Given the description of an element on the screen output the (x, y) to click on. 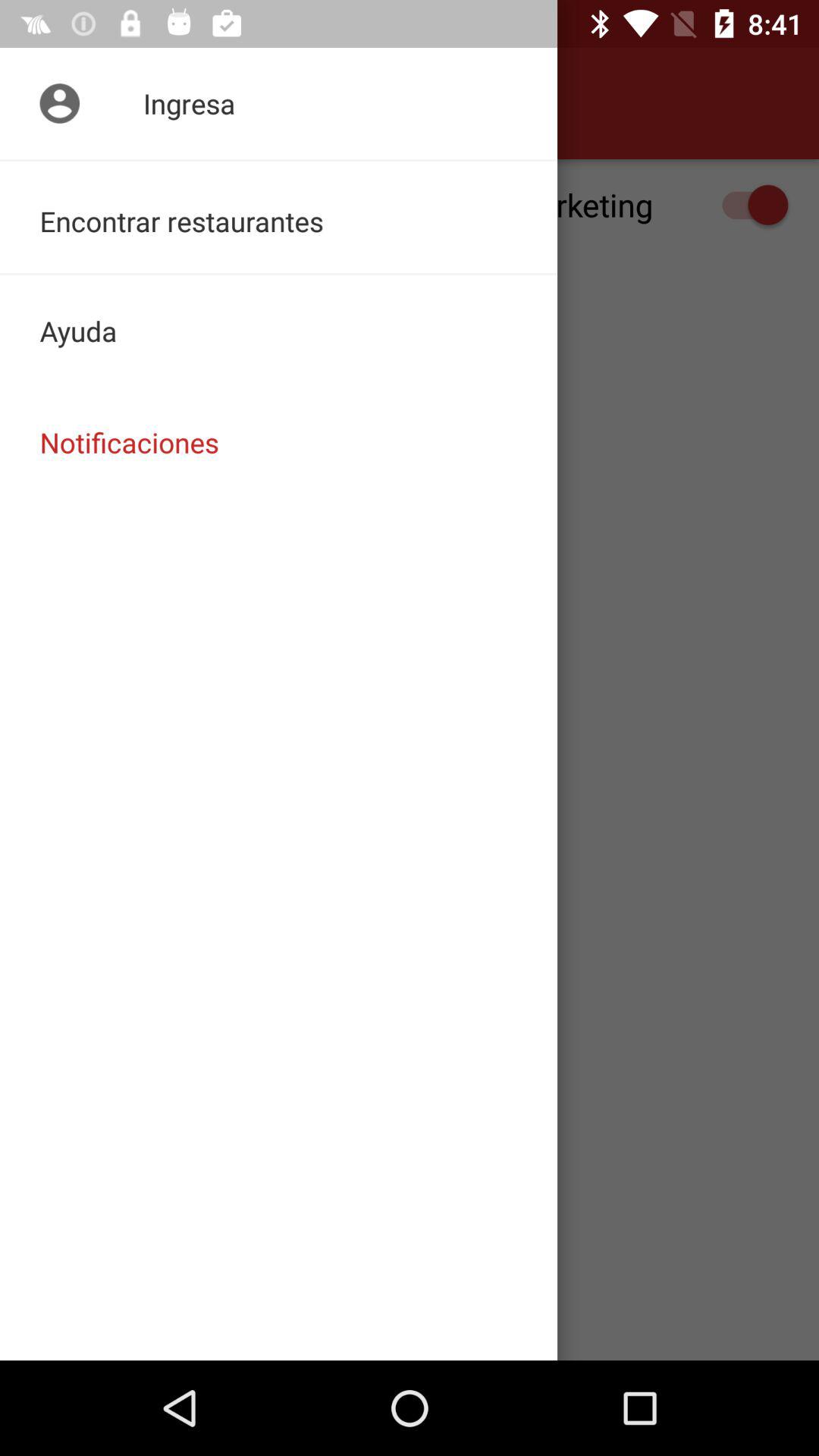
flip until the ayuda icon (278, 330)
